Given the description of an element on the screen output the (x, y) to click on. 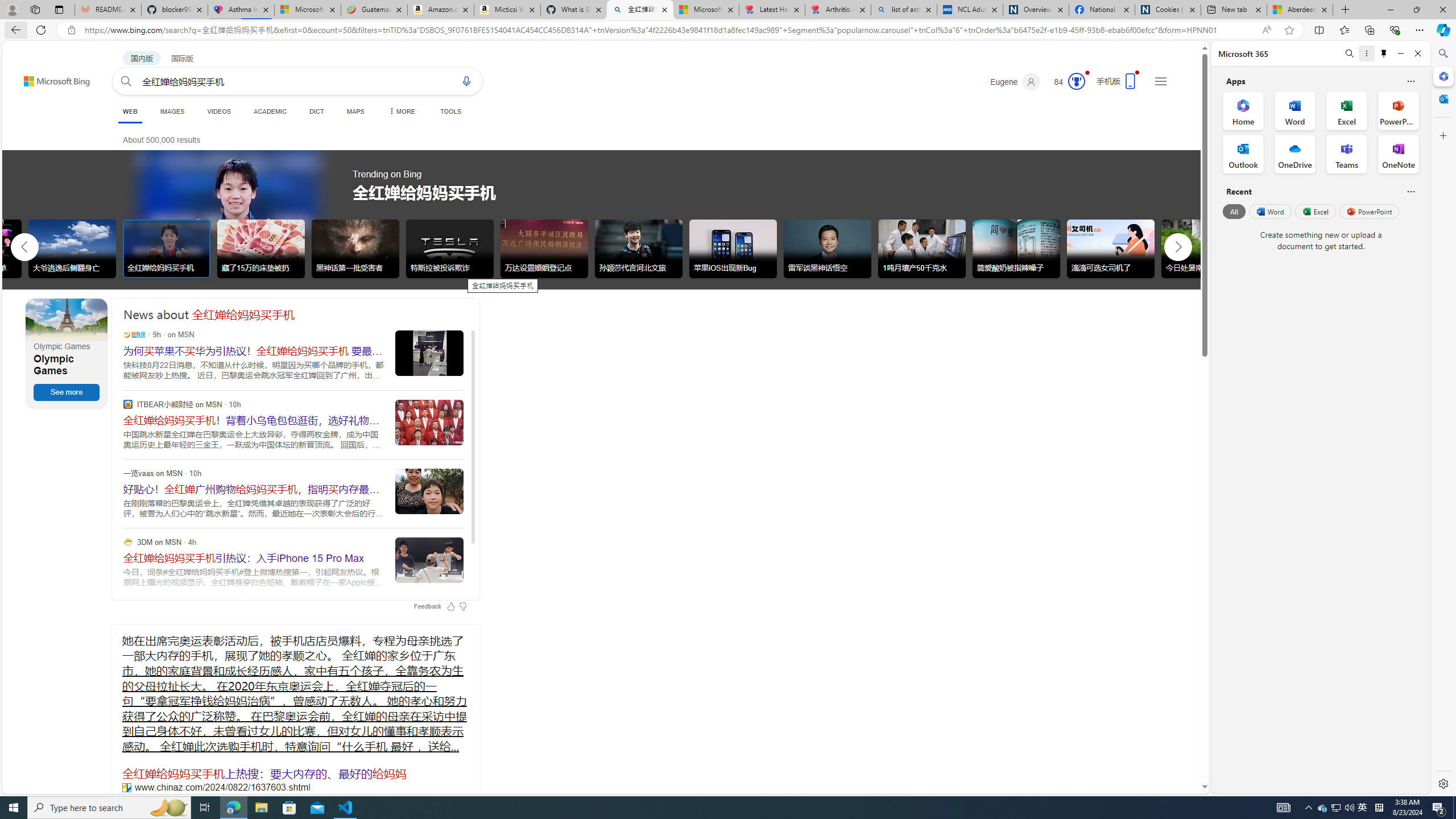
NCL Adult Asthma Inhaler Choice Guideline (969, 9)
3DM on MSN (127, 541)
Animation (1086, 72)
TOOLS (450, 111)
Eugene (1015, 81)
MORE (400, 111)
Teams Office App (1346, 154)
